Given the description of an element on the screen output the (x, y) to click on. 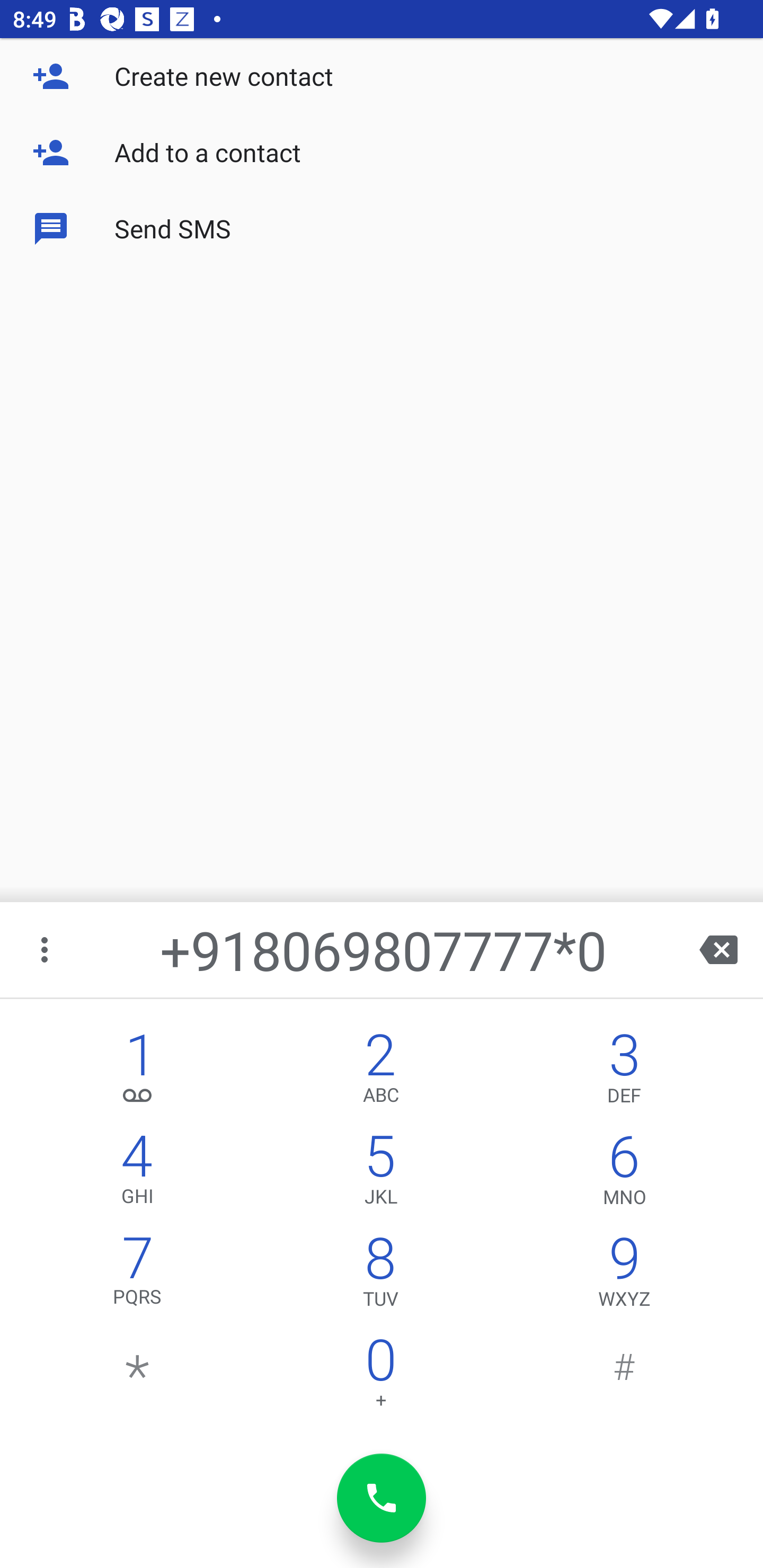
Create new contact (381, 75)
Add to a contact (381, 152)
Send SMS (381, 228)
+918069807777*0 (382, 949)
backspace (718, 949)
More options (45, 949)
1, 1 (137, 1071)
2,ABC 2 ABC (380, 1071)
3,DEF 3 DEF (624, 1071)
4,GHI 4 GHI (137, 1173)
5,JKL 5 JKL (380, 1173)
6,MNO 6 MNO (624, 1173)
7,PQRS 7 PQRS (137, 1275)
8,TUV 8 TUV (380, 1275)
9,WXYZ 9 WXYZ (624, 1275)
* (137, 1377)
0 0 + (380, 1377)
# (624, 1377)
dial (381, 1497)
